Given the description of an element on the screen output the (x, y) to click on. 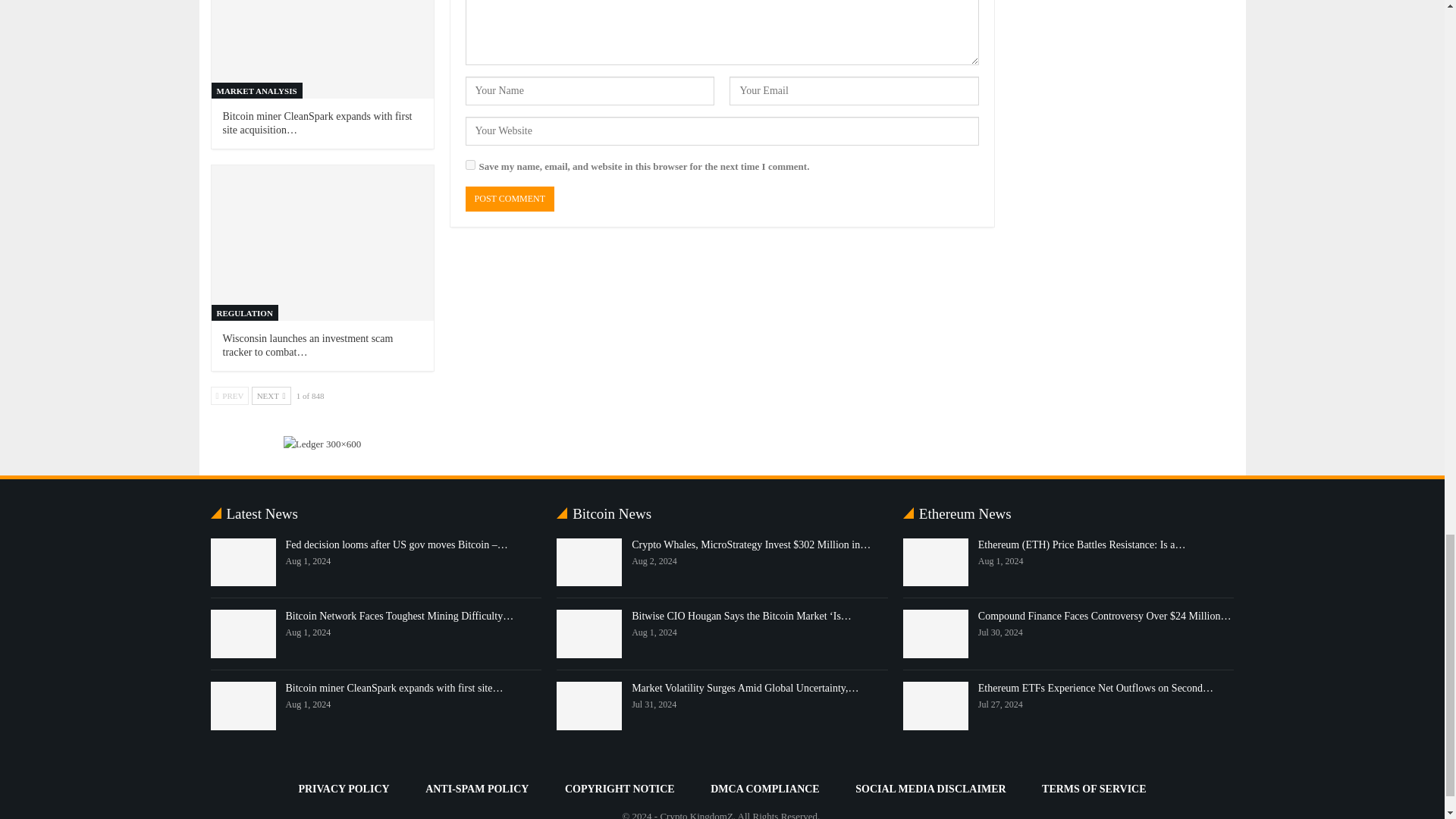
yes (470, 164)
Post Comment (509, 198)
